Given the description of an element on the screen output the (x, y) to click on. 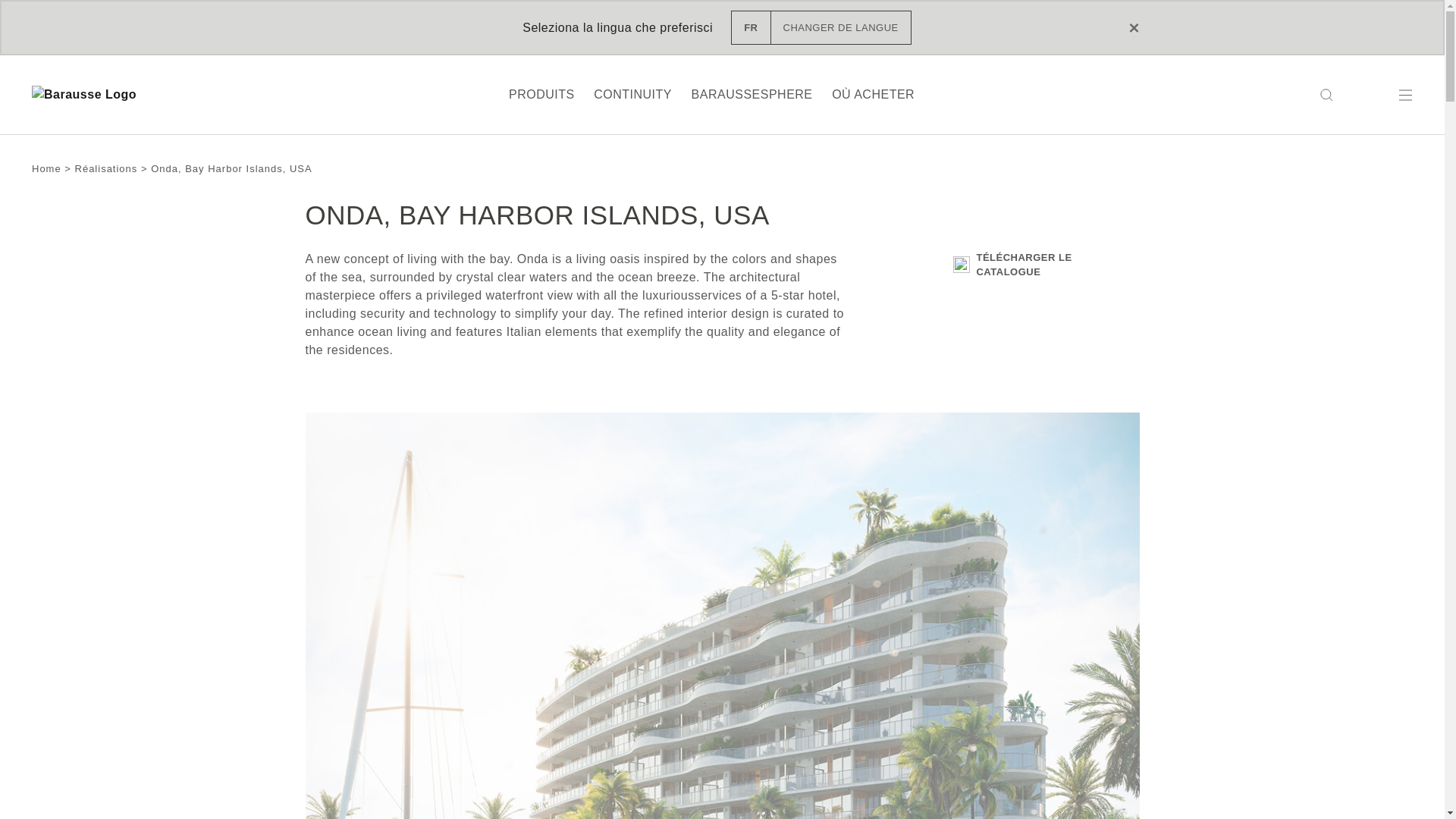
Barausse (84, 94)
FR (821, 27)
BARAUSSESPHERE (751, 93)
PRODUITS (541, 93)
CONTINUITY (632, 93)
